Given the description of an element on the screen output the (x, y) to click on. 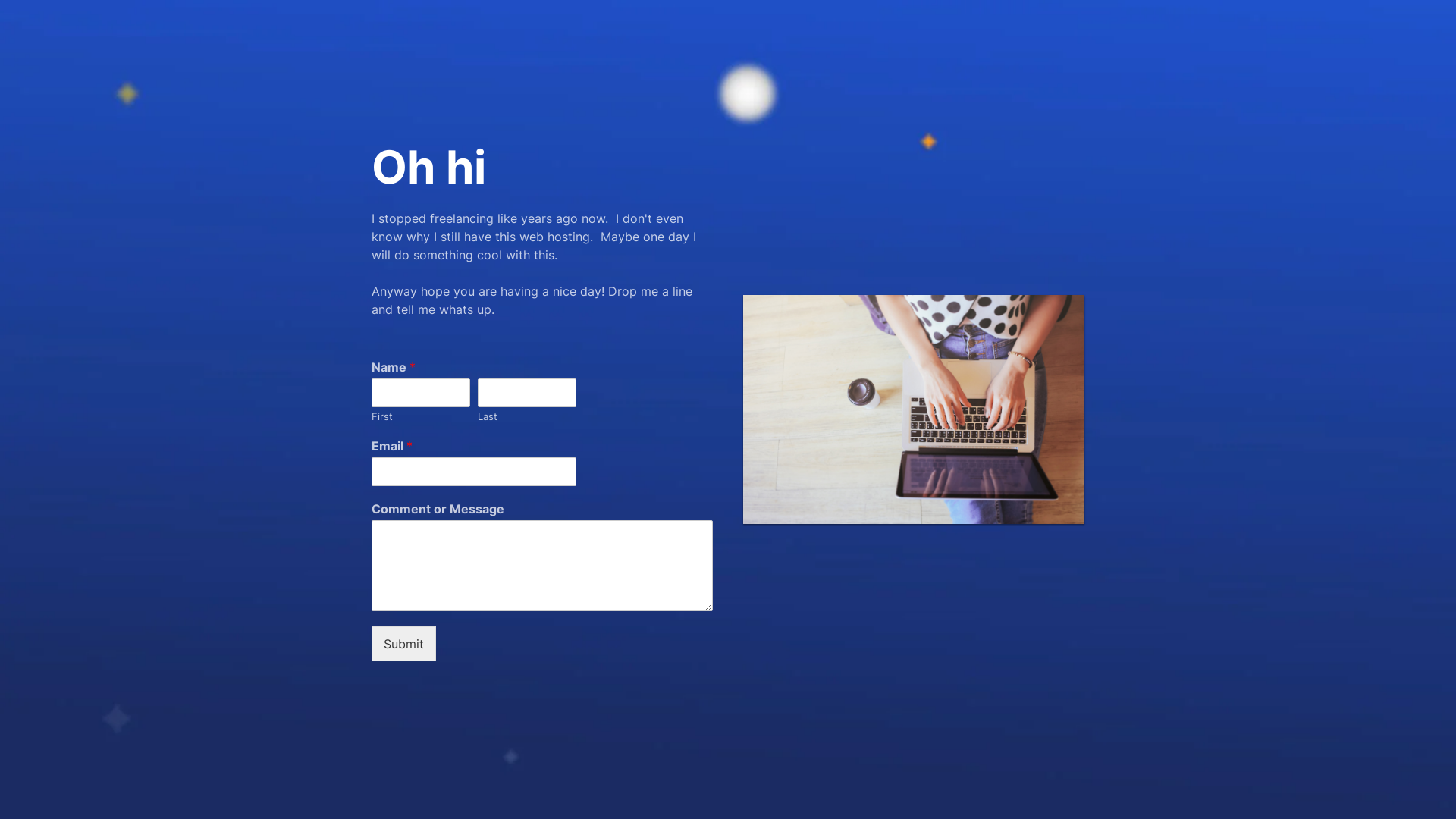
Submit Element type: text (403, 643)
